Given the description of an element on the screen output the (x, y) to click on. 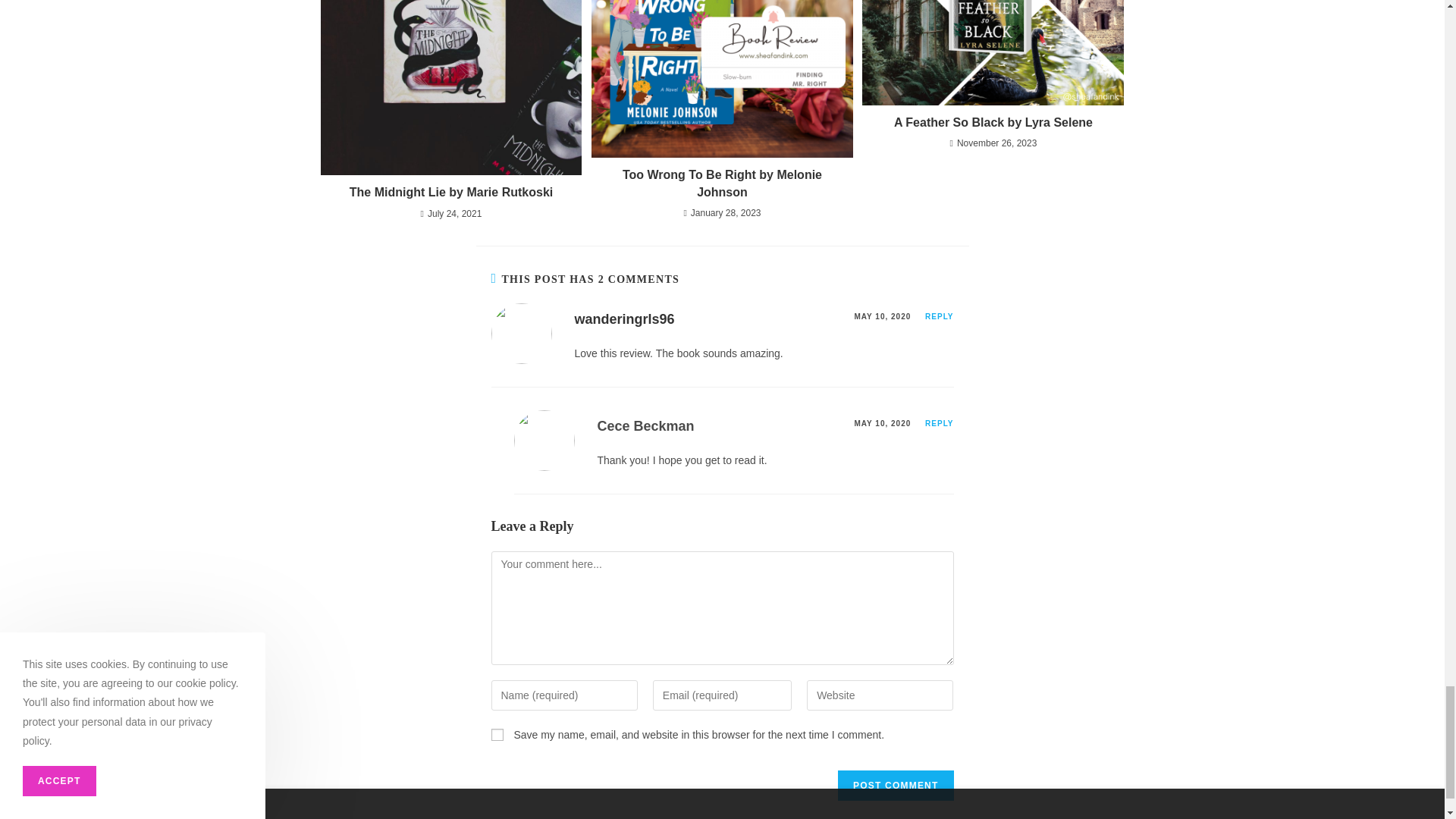
yes (497, 734)
Please wait until Google reCAPTCHA is loaded. (895, 785)
Post Comment (895, 785)
